Given the description of an element on the screen output the (x, y) to click on. 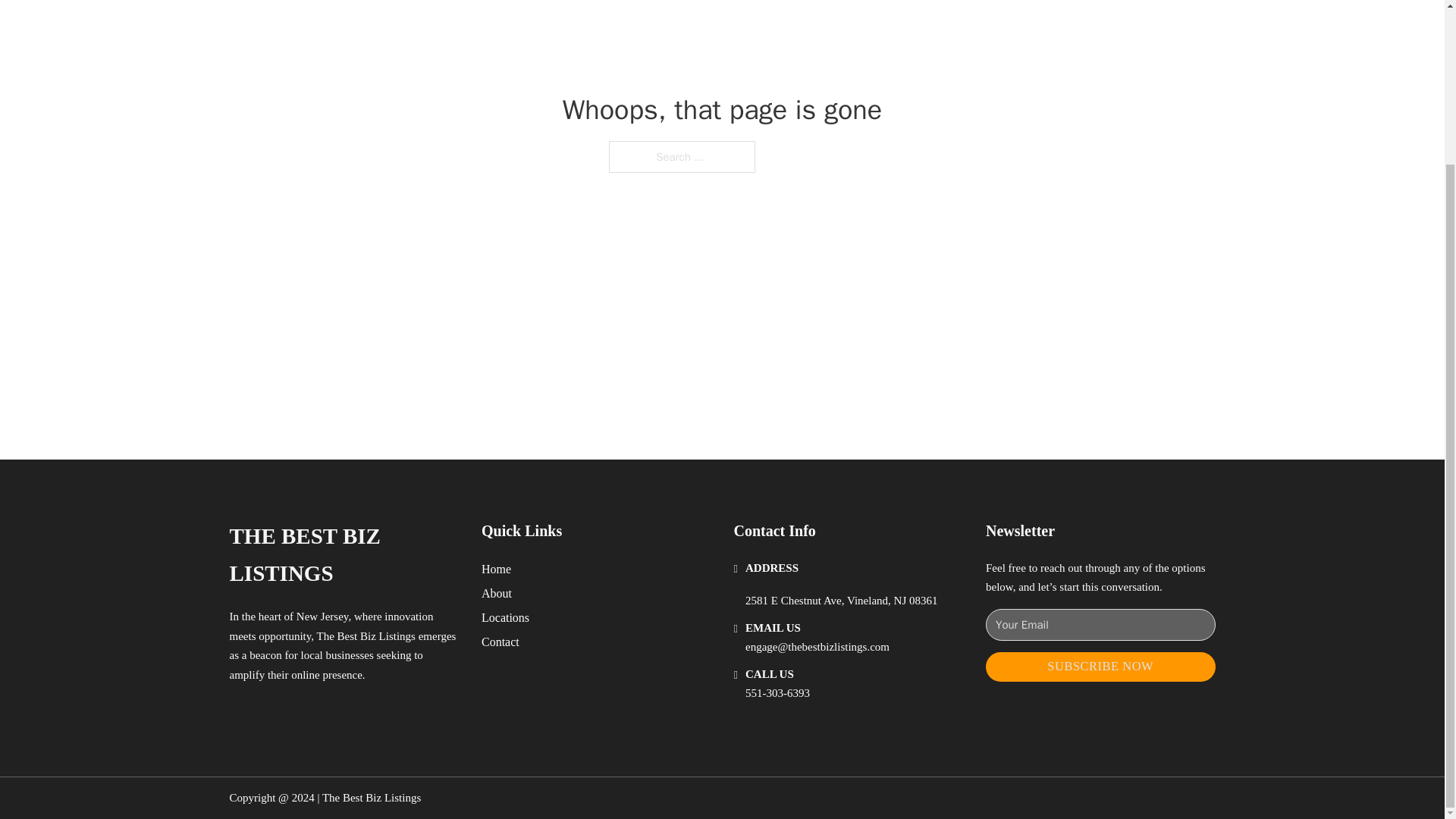
SUBSCRIBE NOW (1100, 666)
551-303-6393 (777, 693)
Home (496, 568)
THE BEST BIZ LISTINGS (343, 554)
Contact (500, 641)
Locations (505, 617)
About (496, 593)
